Given the description of an element on the screen output the (x, y) to click on. 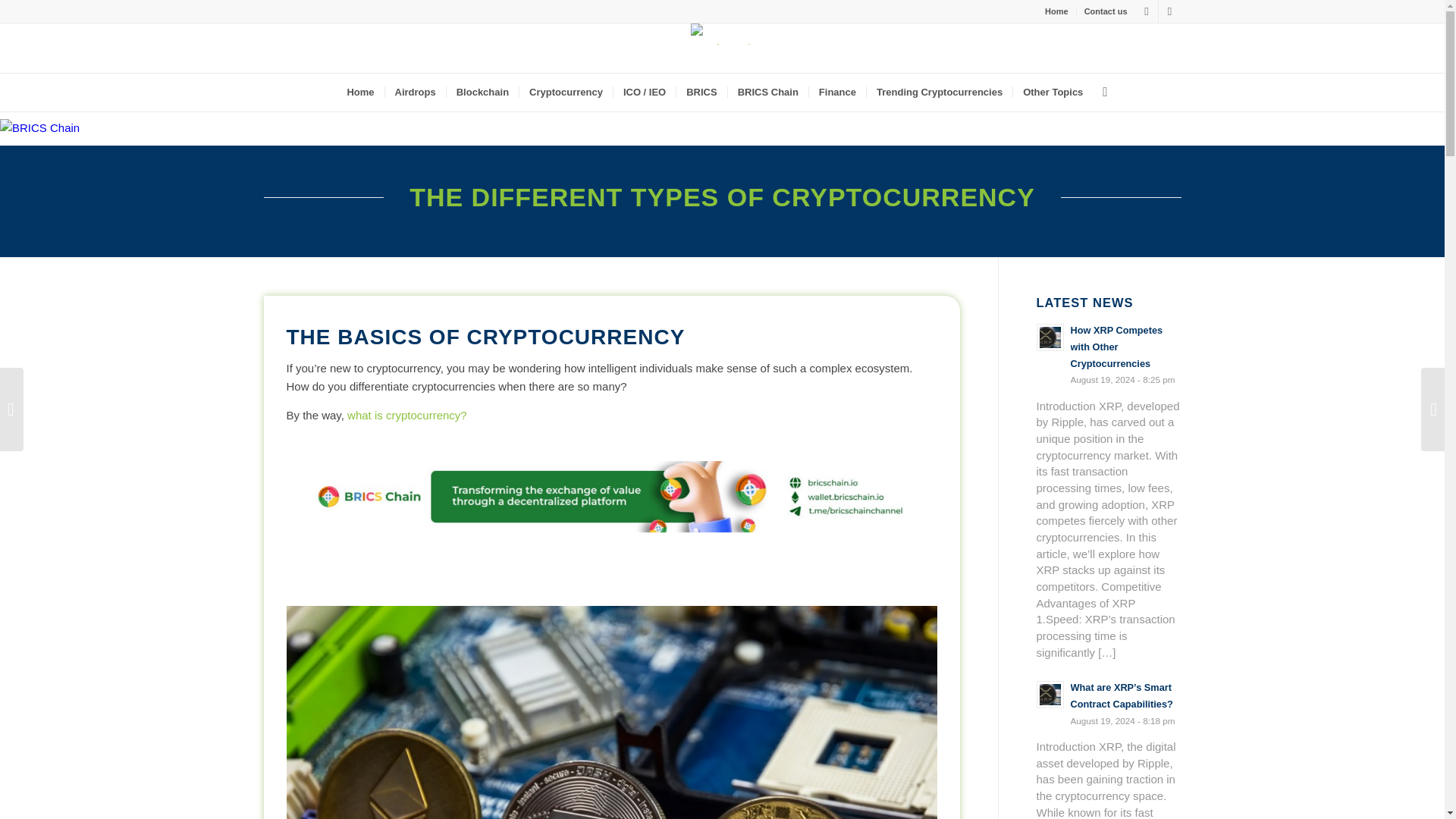
Twitter (1146, 11)
Home (360, 92)
Other Topics (1052, 92)
Blockchain (481, 92)
Contact us (1105, 11)
Trending Cryptocurrencies (938, 92)
BRICS Chain (767, 92)
Home (1056, 11)
Finance (837, 92)
BRICS (700, 92)
